Given the description of an element on the screen output the (x, y) to click on. 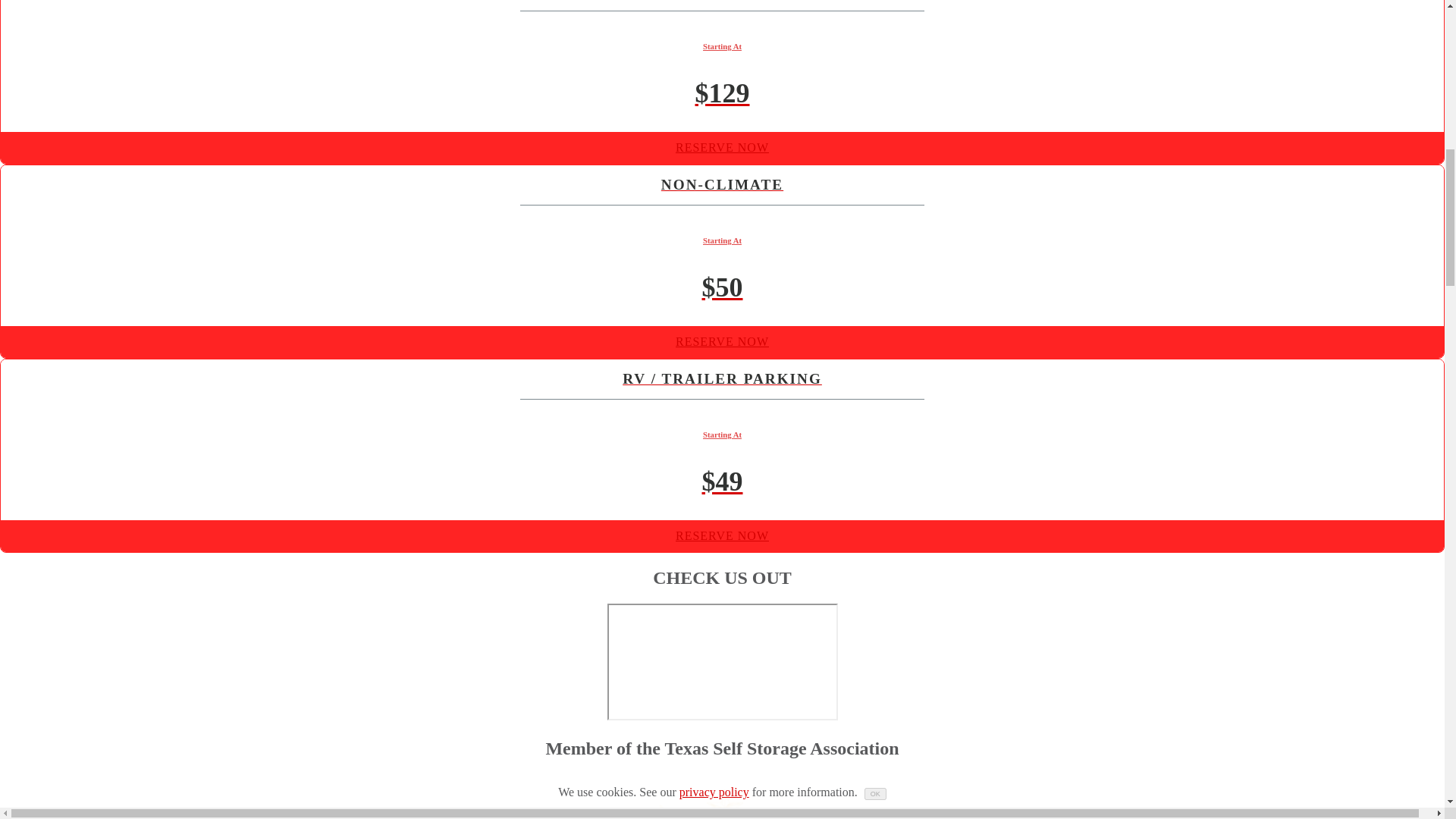
RESERVE NOW (722, 147)
RESERVE NOW (722, 536)
RESERVE NOW (722, 341)
